Given the description of an element on the screen output the (x, y) to click on. 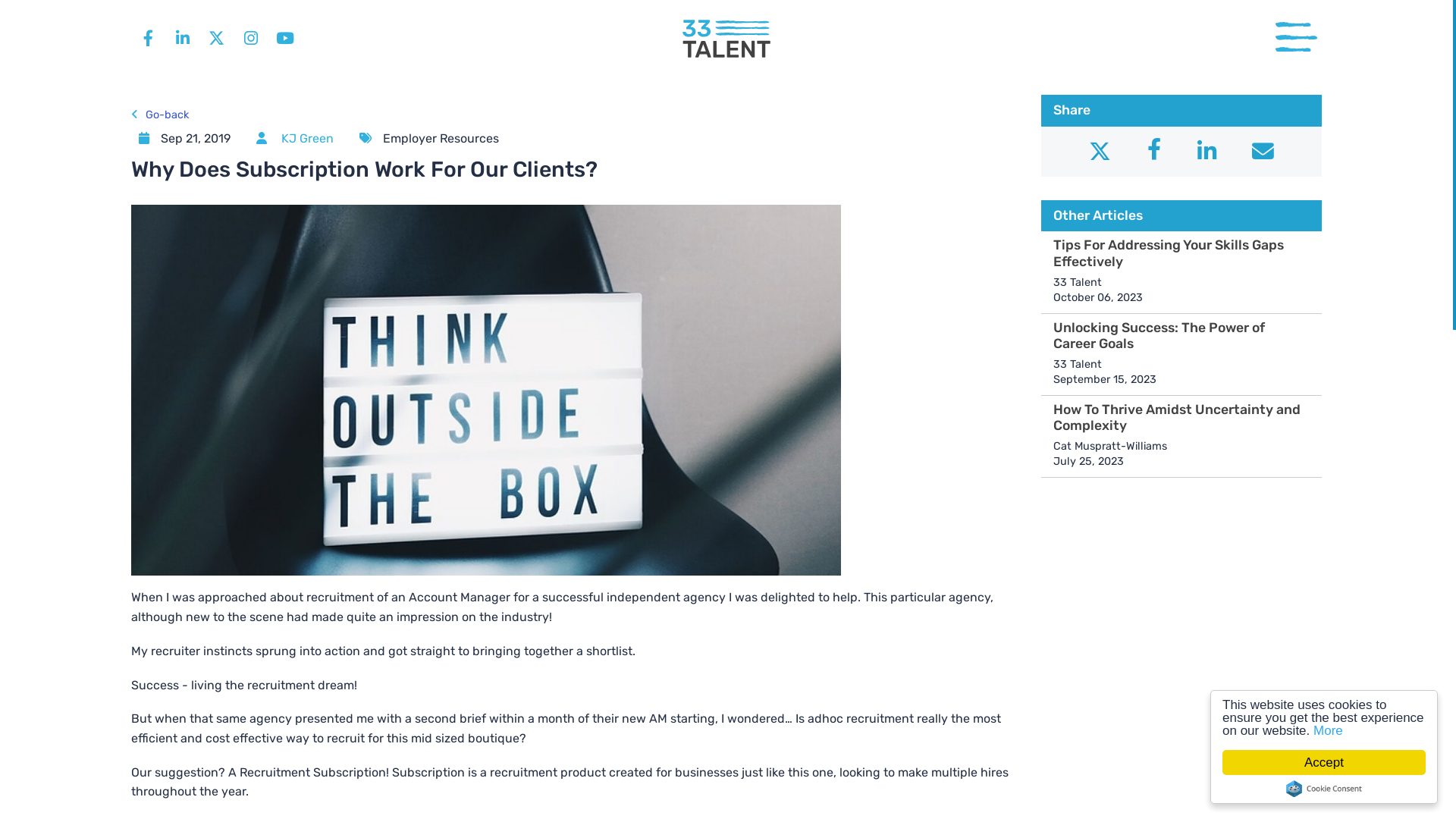
Facebook Element type: hover (1154, 151)
Accept Element type: text (1323, 762)
youtube Element type: hover (284, 38)
More Element type: text (1328, 730)
linkedIn Element type: hover (182, 38)
facebook Element type: hover (147, 38)
Go-back Element type: text (159, 114)
Twitter Element type: hover (1099, 151)
Email Element type: hover (1263, 151)
33 Talent Element type: text (726, 38)
KJ Green Element type: text (307, 138)
LinkedIn Element type: hover (1205, 151)
Cookie Consent plugin for the EU cookie law Element type: text (1323, 788)
twitter Element type: hover (216, 38)
instagram Element type: hover (250, 38)
